Given the description of an element on the screen output the (x, y) to click on. 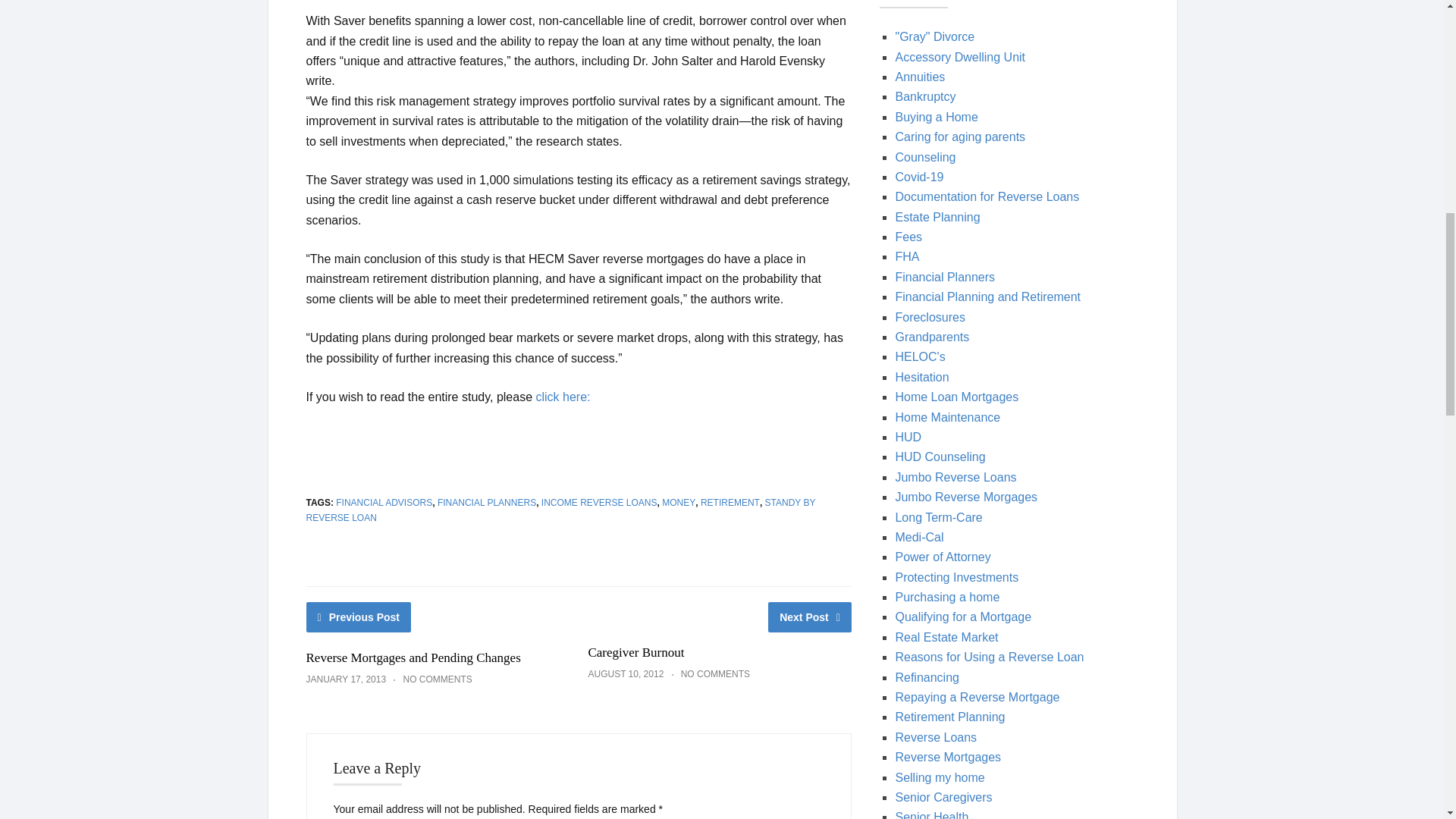
MONEY (678, 502)
Covid-19 (919, 176)
Caregiver Burnout (636, 652)
Previous Post (358, 616)
FINANCIAL ADVISORS (384, 502)
FINANCIAL PLANNERS (486, 502)
NO COMMENTS (715, 674)
Counseling (925, 155)
INCOME REVERSE LOANS (599, 502)
Reverse Mortgages and Pending Changes (413, 657)
RETIREMENT (730, 502)
Caring for aging parents (960, 136)
Next Post (809, 616)
NO COMMENTS (437, 679)
Study on Using a "Stand By" Reverse Loan for Retirement (562, 396)
